Given the description of an element on the screen output the (x, y) to click on. 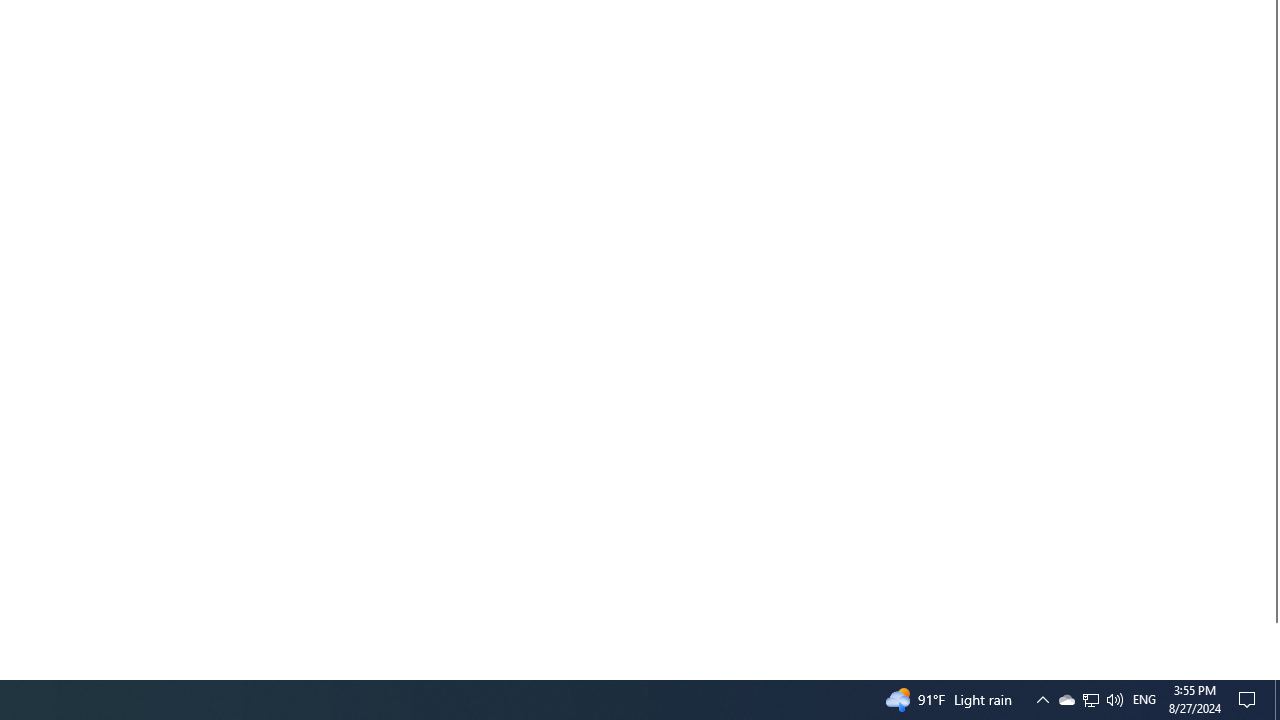
Vertical Large Increase (1272, 642)
Vertical Small Increase (1272, 671)
